Given the description of an element on the screen output the (x, y) to click on. 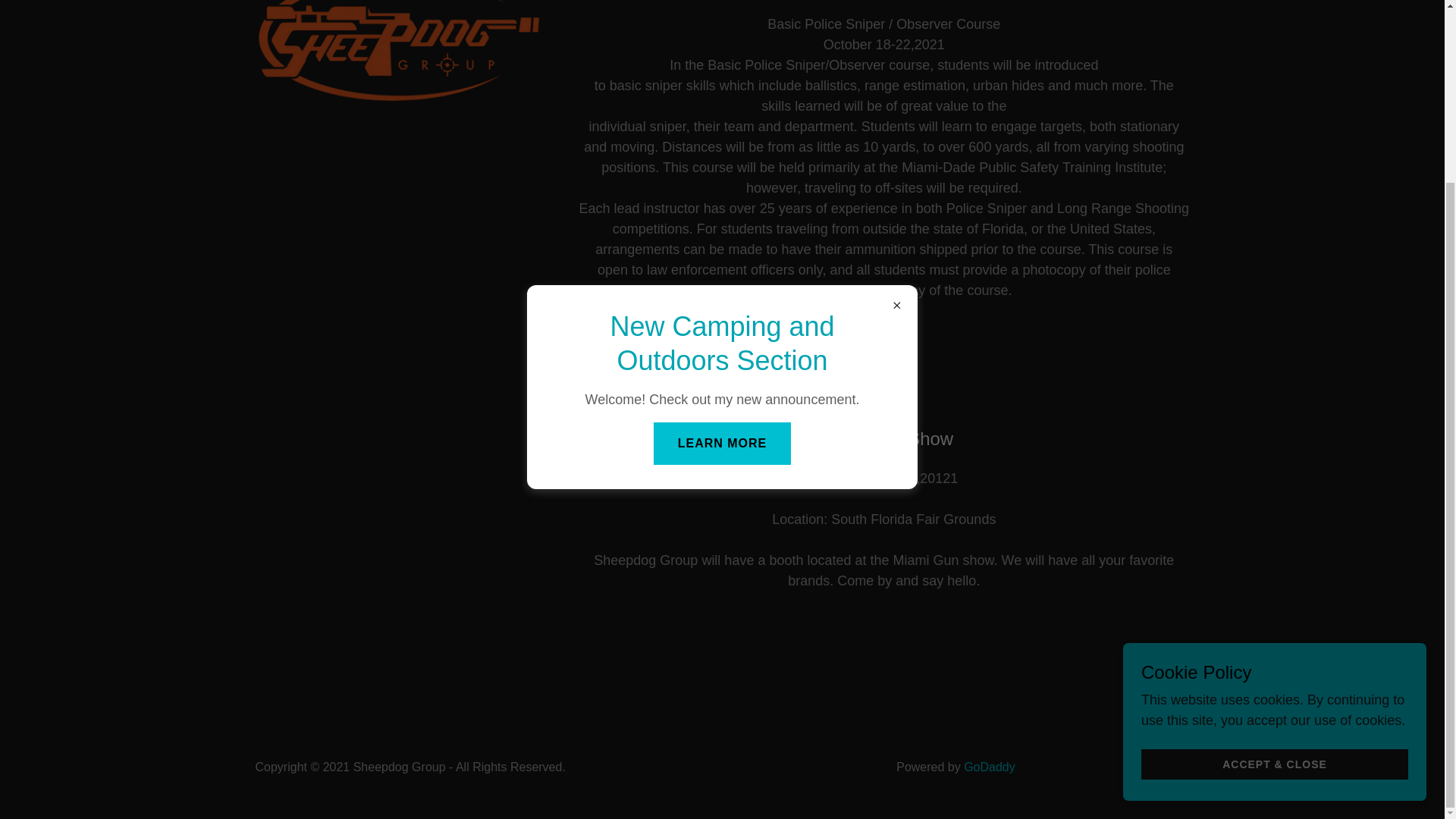
GoDaddy (988, 766)
LEARN MORE (722, 217)
